Given the description of an element on the screen output the (x, y) to click on. 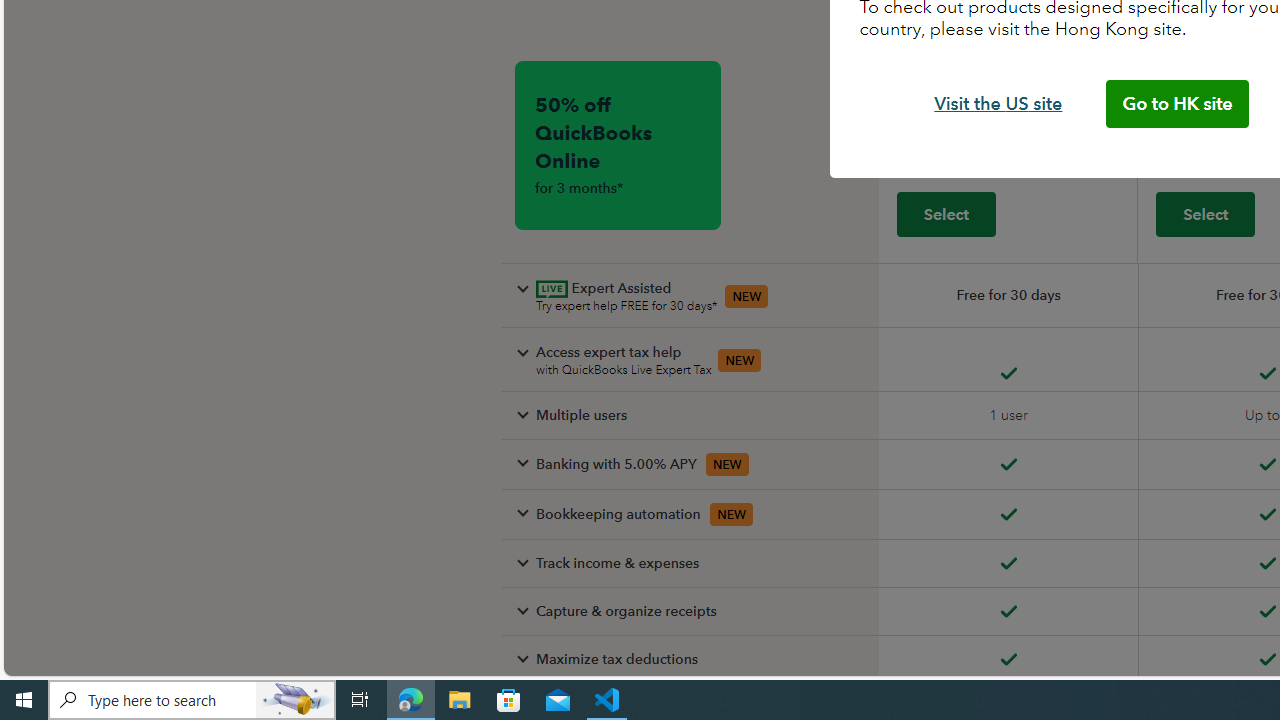
Select simple start (945, 213)
Select plus (1205, 213)
